Given the description of an element on the screen output the (x, y) to click on. 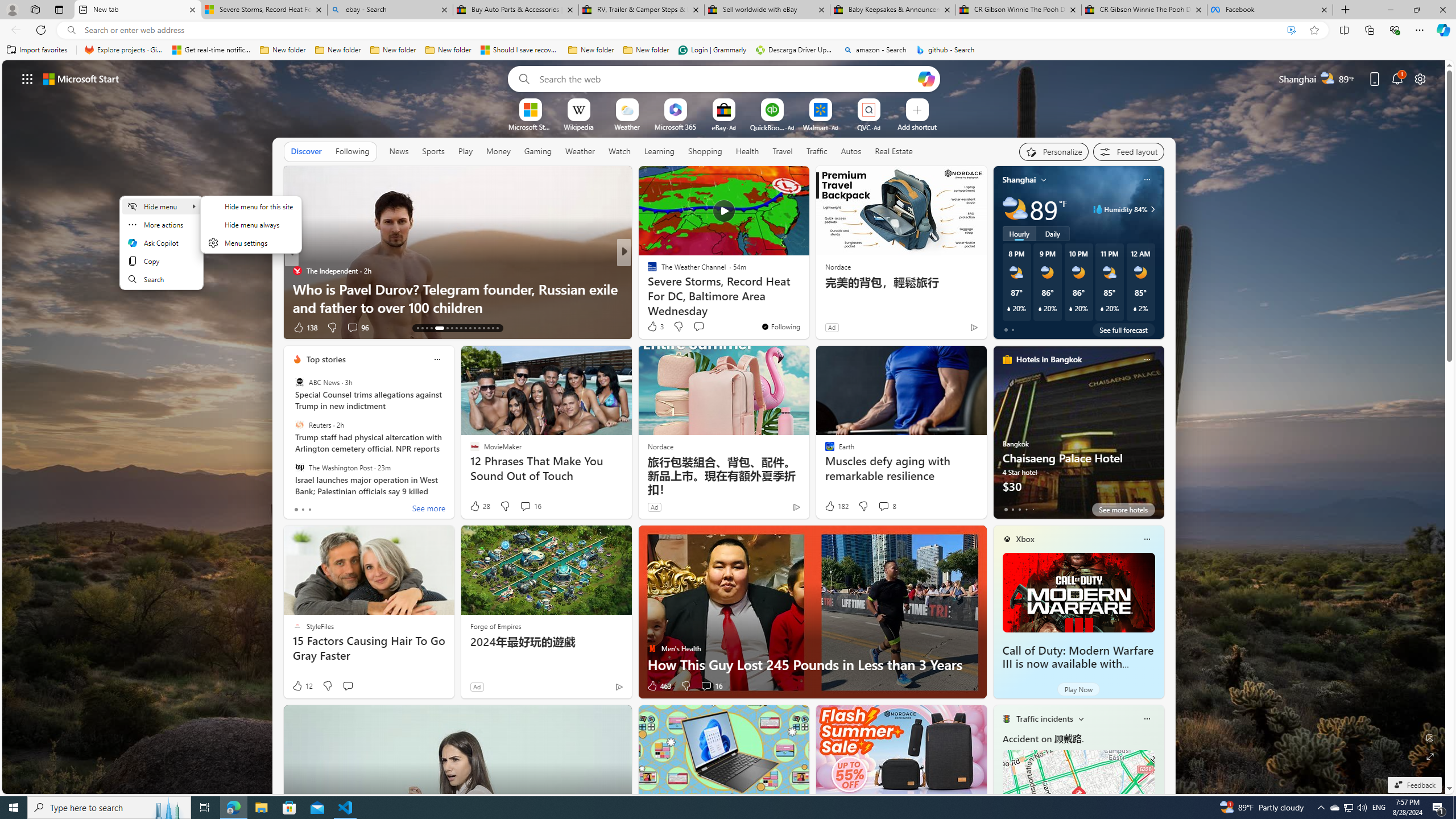
Daily (1052, 233)
MUO (647, 288)
AutomationID: tab-17 (439, 328)
You're following The Weather Channel (780, 326)
463 Like (658, 685)
Class: icon-img (1146, 718)
Search icon (70, 29)
AutomationID: tab-16 (431, 328)
Favorites bar (728, 49)
Sell worldwide with eBay (766, 9)
AutomationID: tab-20 (456, 328)
View comments 8 Comment (883, 505)
